Given the description of an element on the screen output the (x, y) to click on. 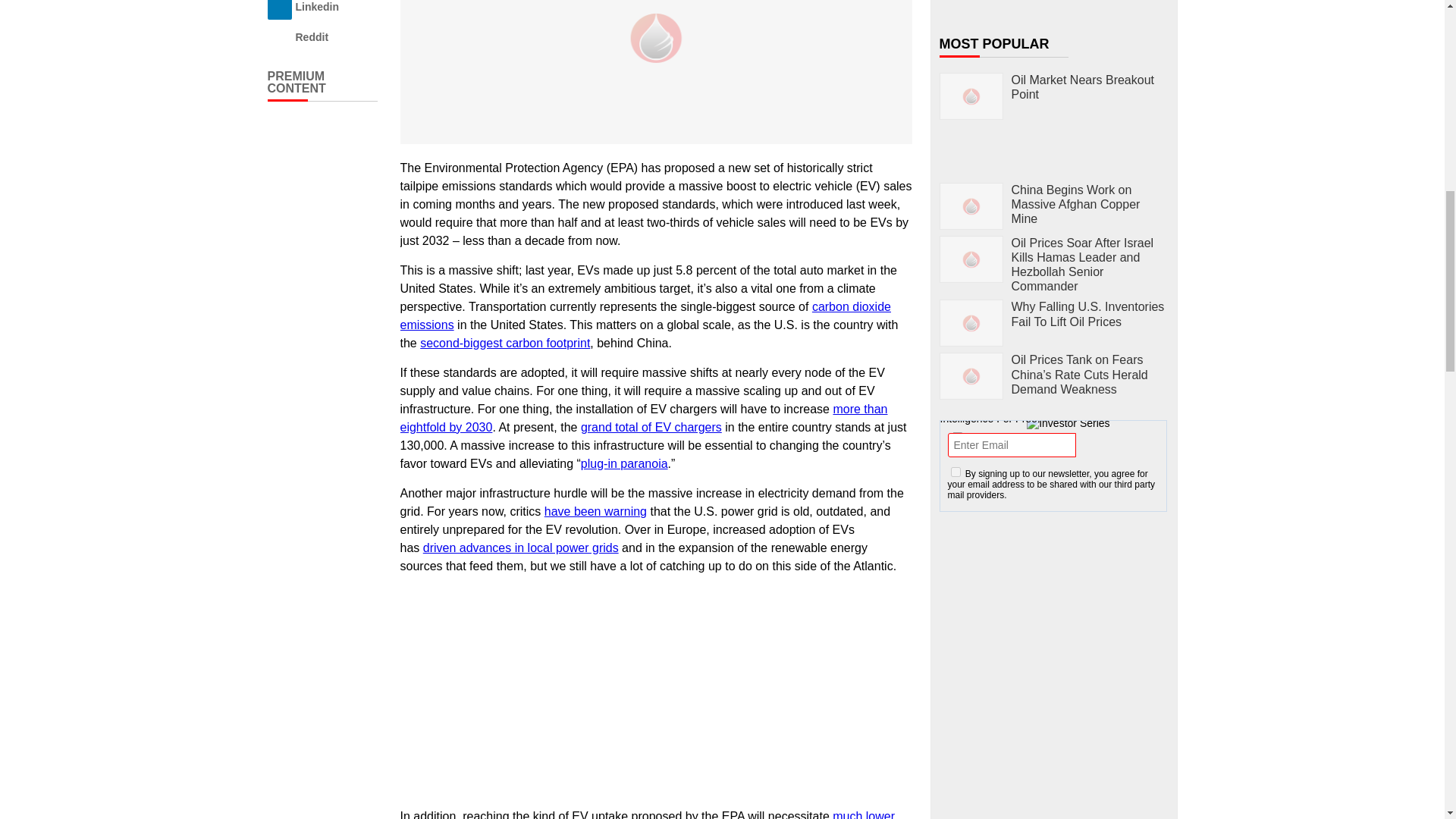
1 (955, 471)
